Given the description of an element on the screen output the (x, y) to click on. 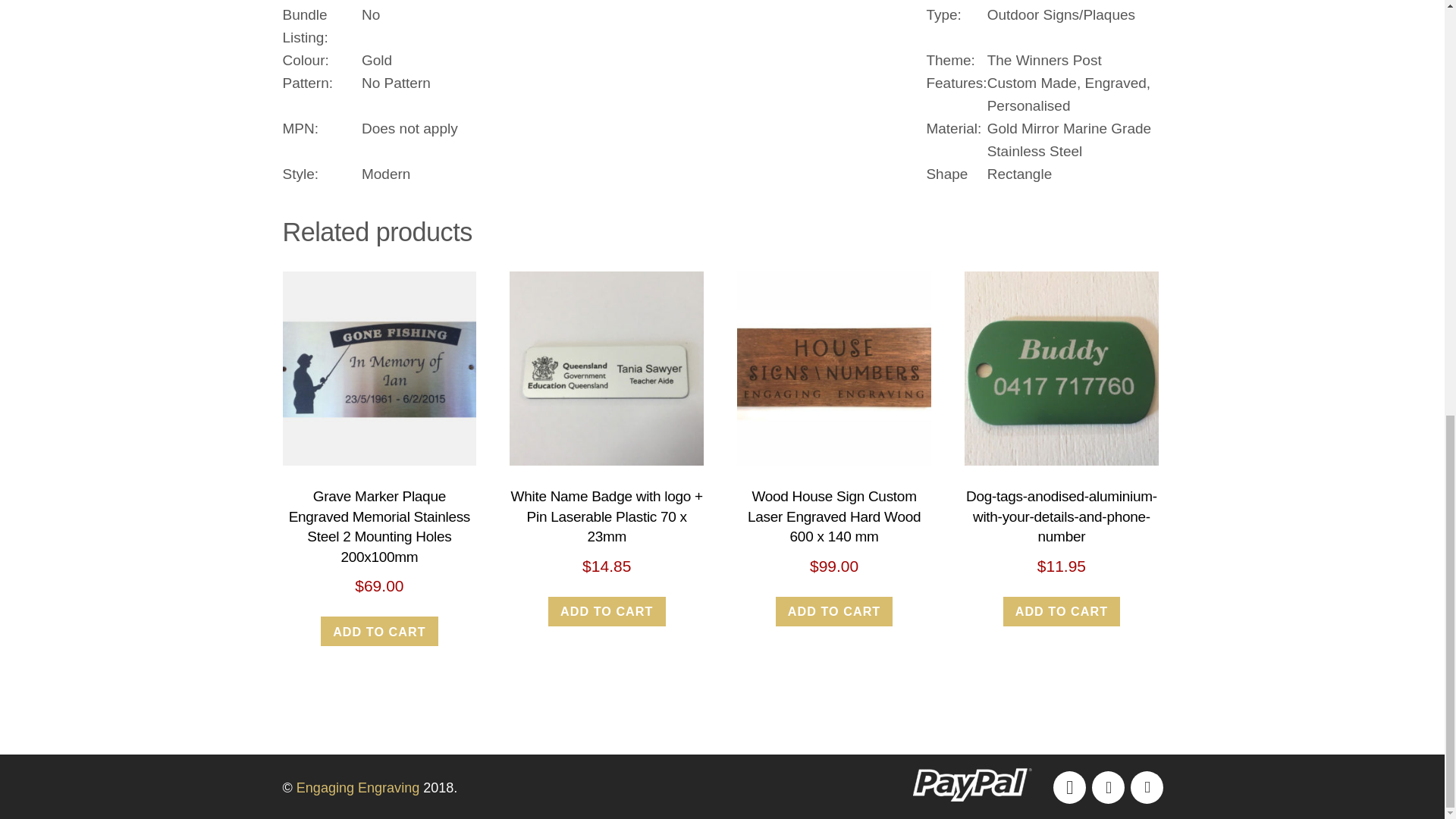
ADD TO CART (606, 611)
Twitter (1107, 785)
linkedin (1145, 785)
ADD TO CART (1062, 611)
ADD TO CART (834, 611)
ADD TO CART (379, 631)
Facebook (1067, 785)
